Given the description of an element on the screen output the (x, y) to click on. 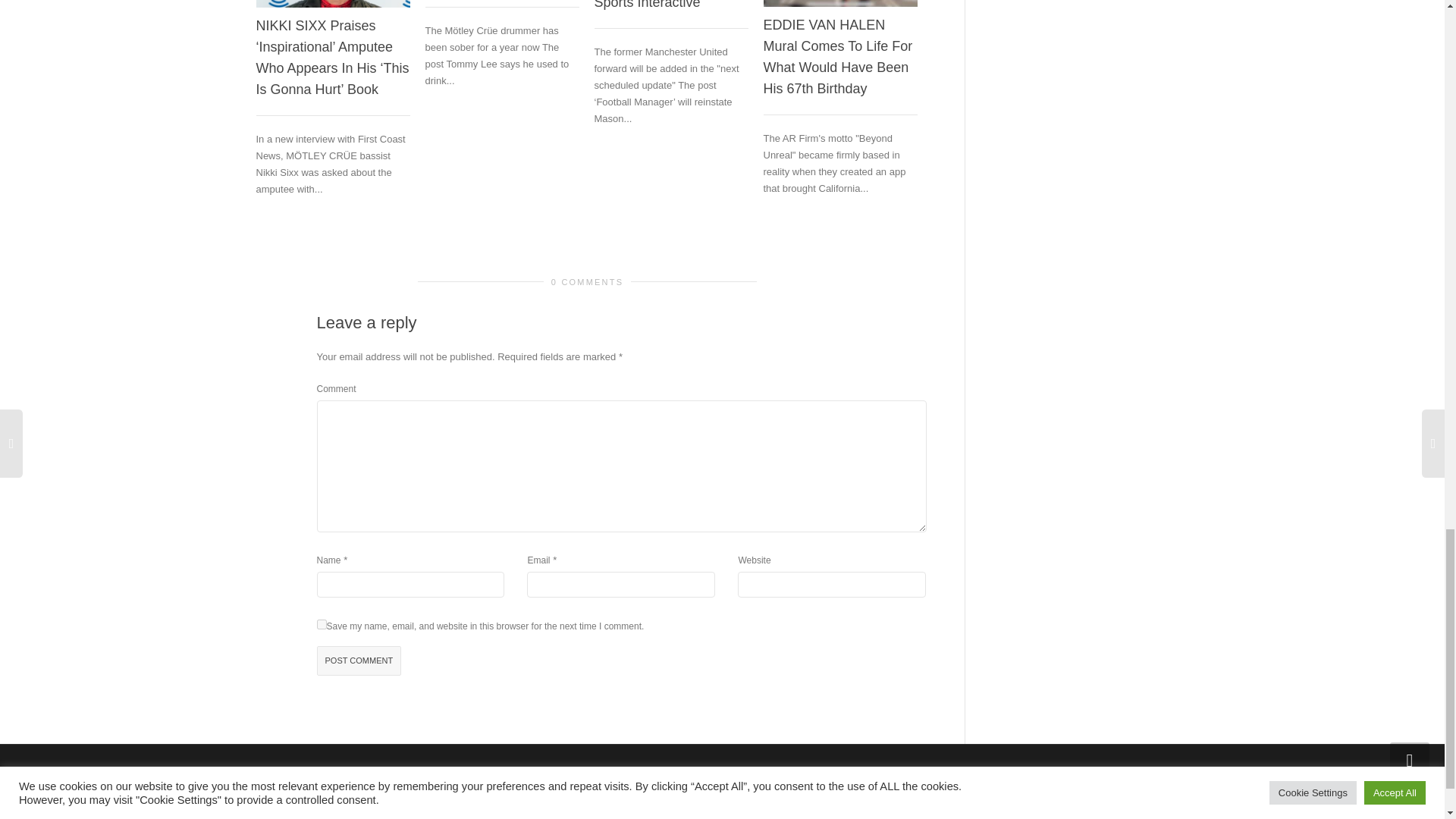
yes (321, 624)
Post comment (359, 660)
